Given the description of an element on the screen output the (x, y) to click on. 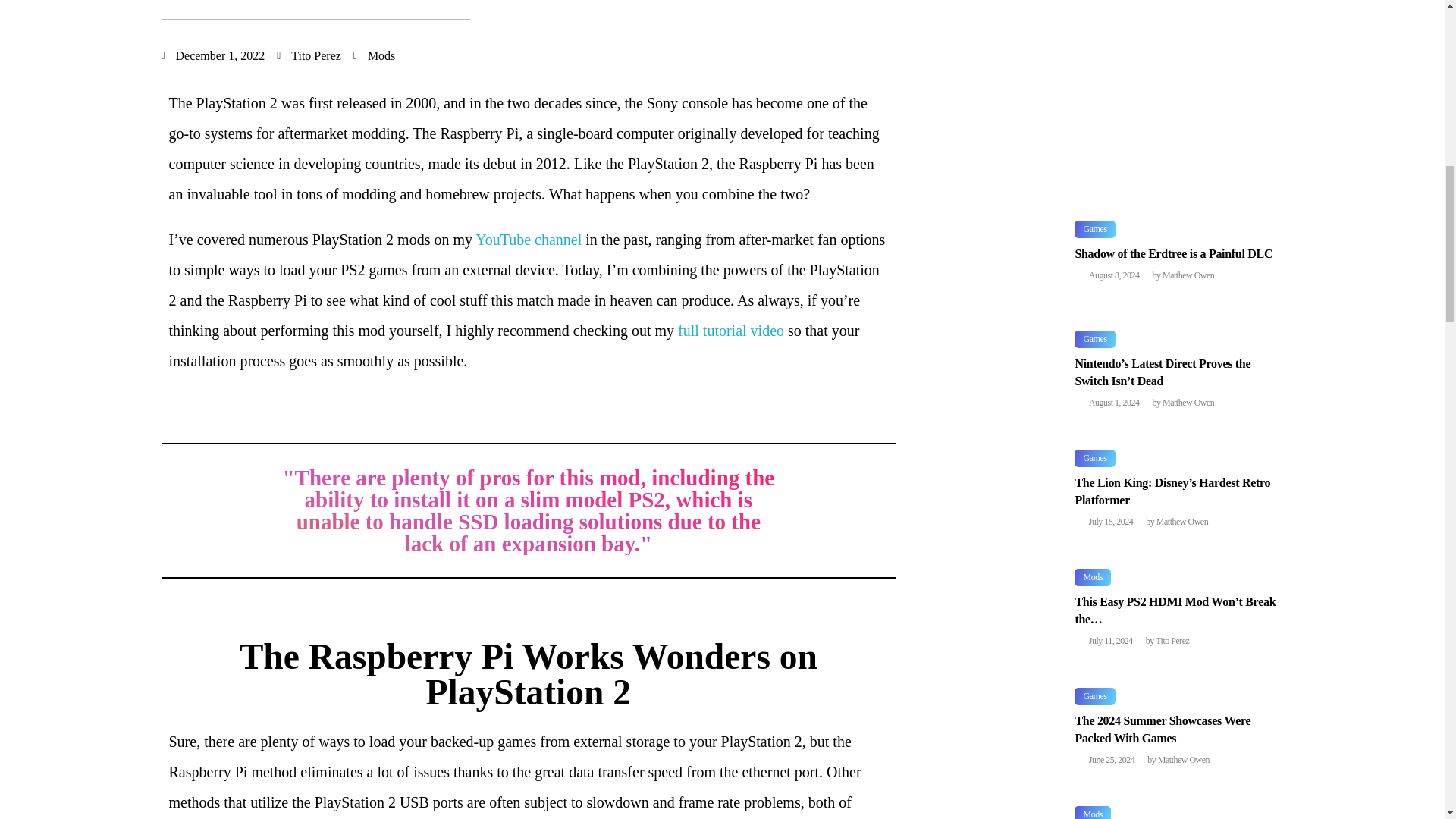
December 1, 2022 (212, 55)
Mods (381, 55)
Tito Perez (308, 55)
YouTube channel (525, 239)
full tutorial video (729, 330)
